Given the description of an element on the screen output the (x, y) to click on. 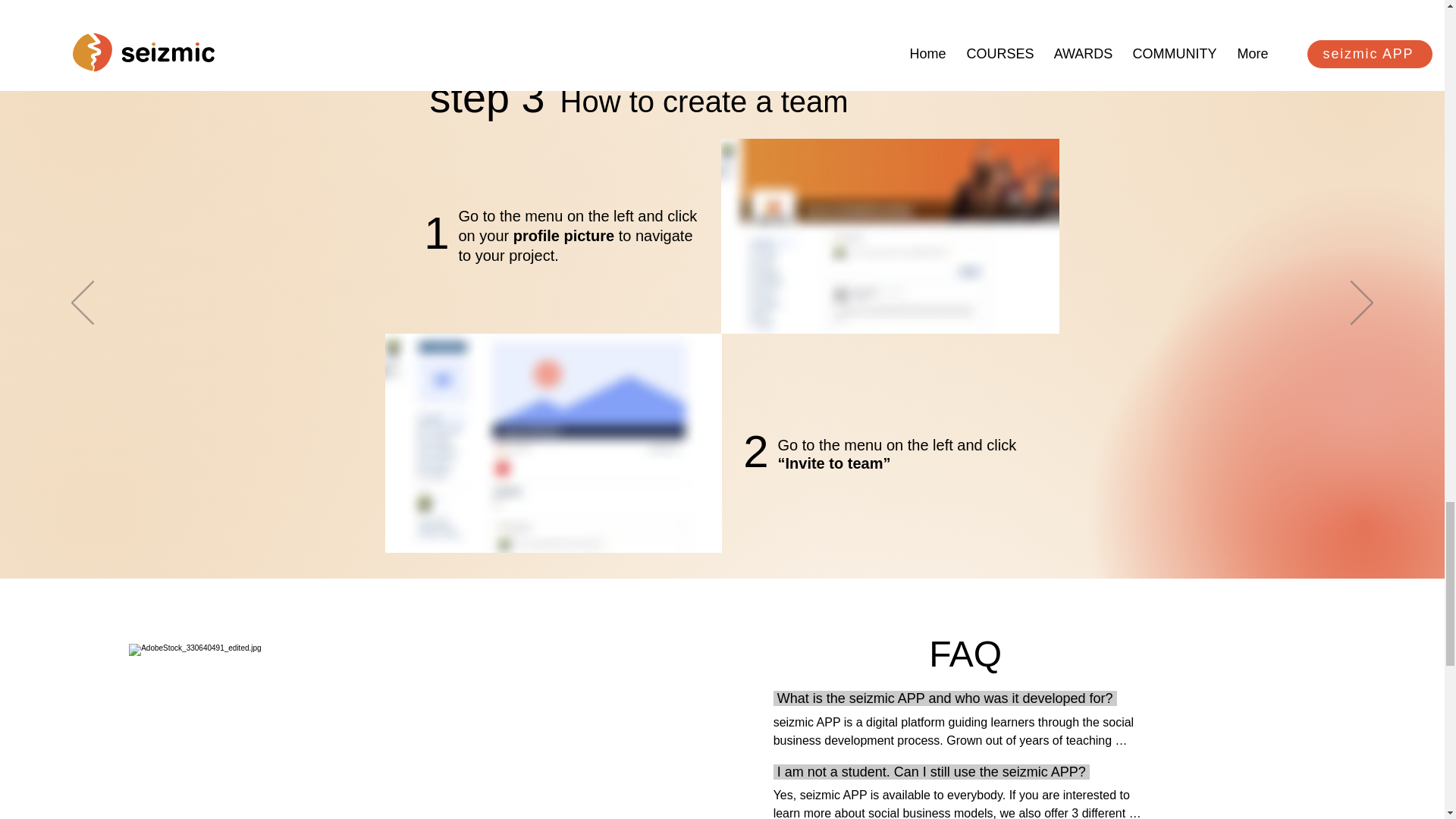
Screenshot 2024-02-16 at 12.39.18.png (553, 442)
Screenshot 2024-02-16 at 12.41.32.png (889, 235)
Image by Tingey Injury Law Firm (266, 731)
